Given the description of an element on the screen output the (x, y) to click on. 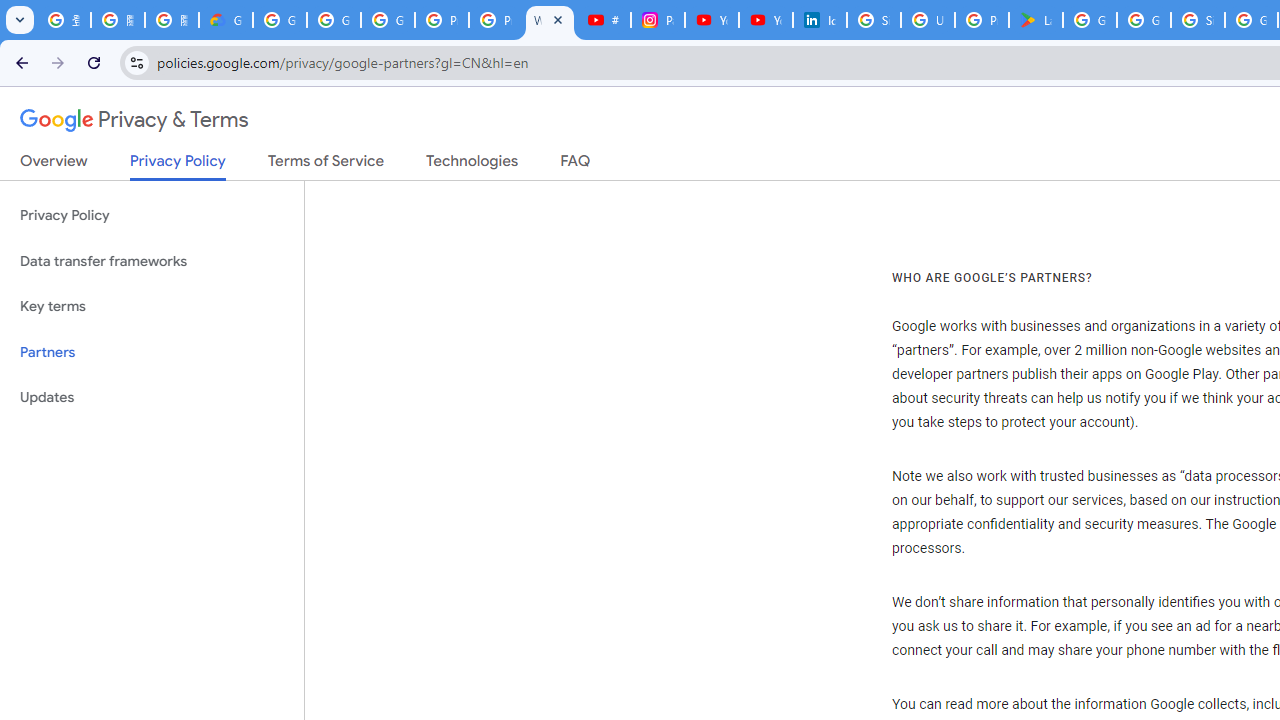
YouTube Culture & Trends - On The Rise: Handcam Videos (711, 20)
#nbabasketballhighlights - YouTube (604, 20)
